Given the description of an element on the screen output the (x, y) to click on. 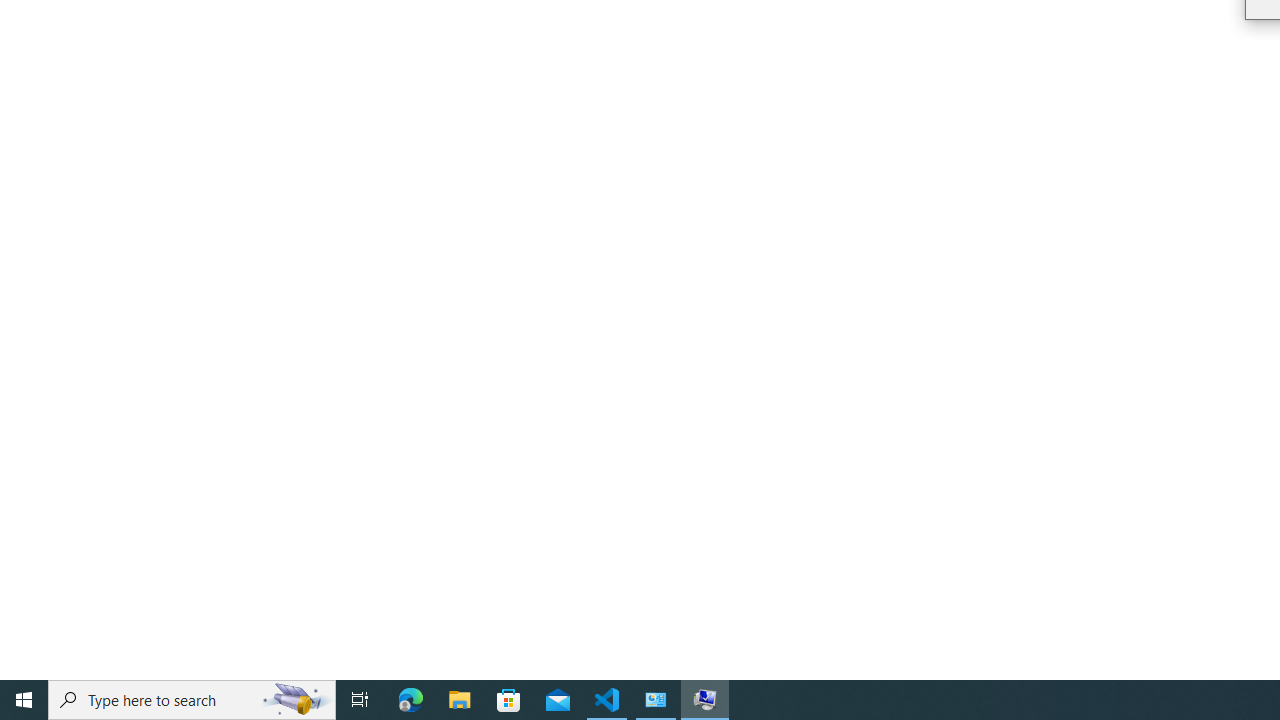
Microsoft Edge (411, 699)
Control Panel - 1 running window (656, 699)
Start (24, 699)
Search highlights icon opens search home window (295, 699)
File Explorer (460, 699)
Type here to search (191, 699)
Task View (359, 699)
System Remote Settings - 1 running window (704, 699)
Microsoft Store (509, 699)
Visual Studio Code - 1 running window (607, 699)
